Given the description of an element on the screen output the (x, y) to click on. 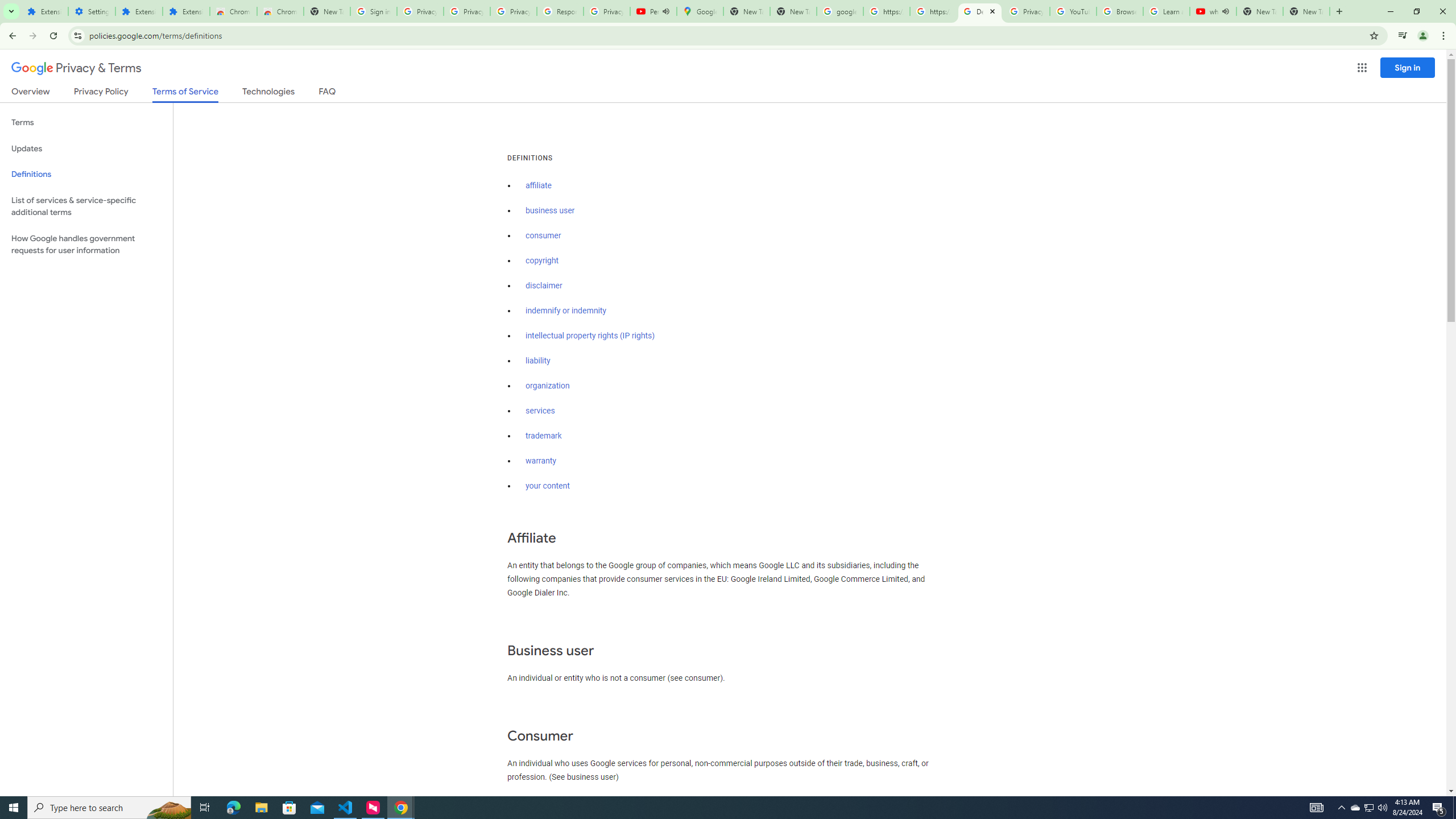
disclaimer (543, 285)
Personalized AI for you | Gemini - YouTube - Audio playing (652, 11)
liability (537, 361)
copyright (542, 260)
New Tab (326, 11)
https://scholar.google.com/ (886, 11)
